Given the description of an element on the screen output the (x, y) to click on. 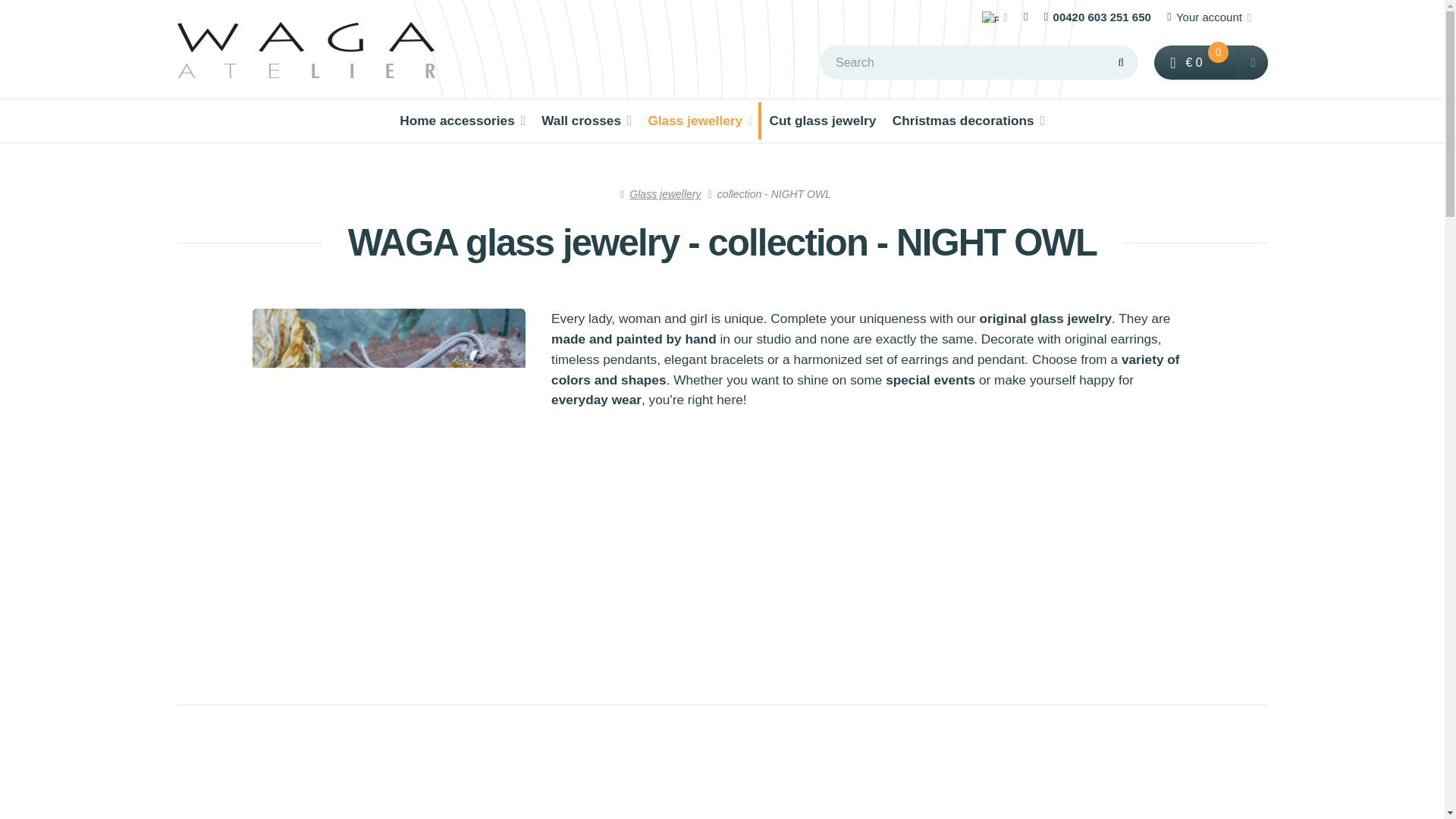
0 item (1218, 52)
Go to Cart (1196, 62)
00420 603 251 650 (1096, 17)
Home (306, 49)
Home accessories (462, 121)
Your account (1208, 17)
Open menu (998, 17)
